Given the description of an element on the screen output the (x, y) to click on. 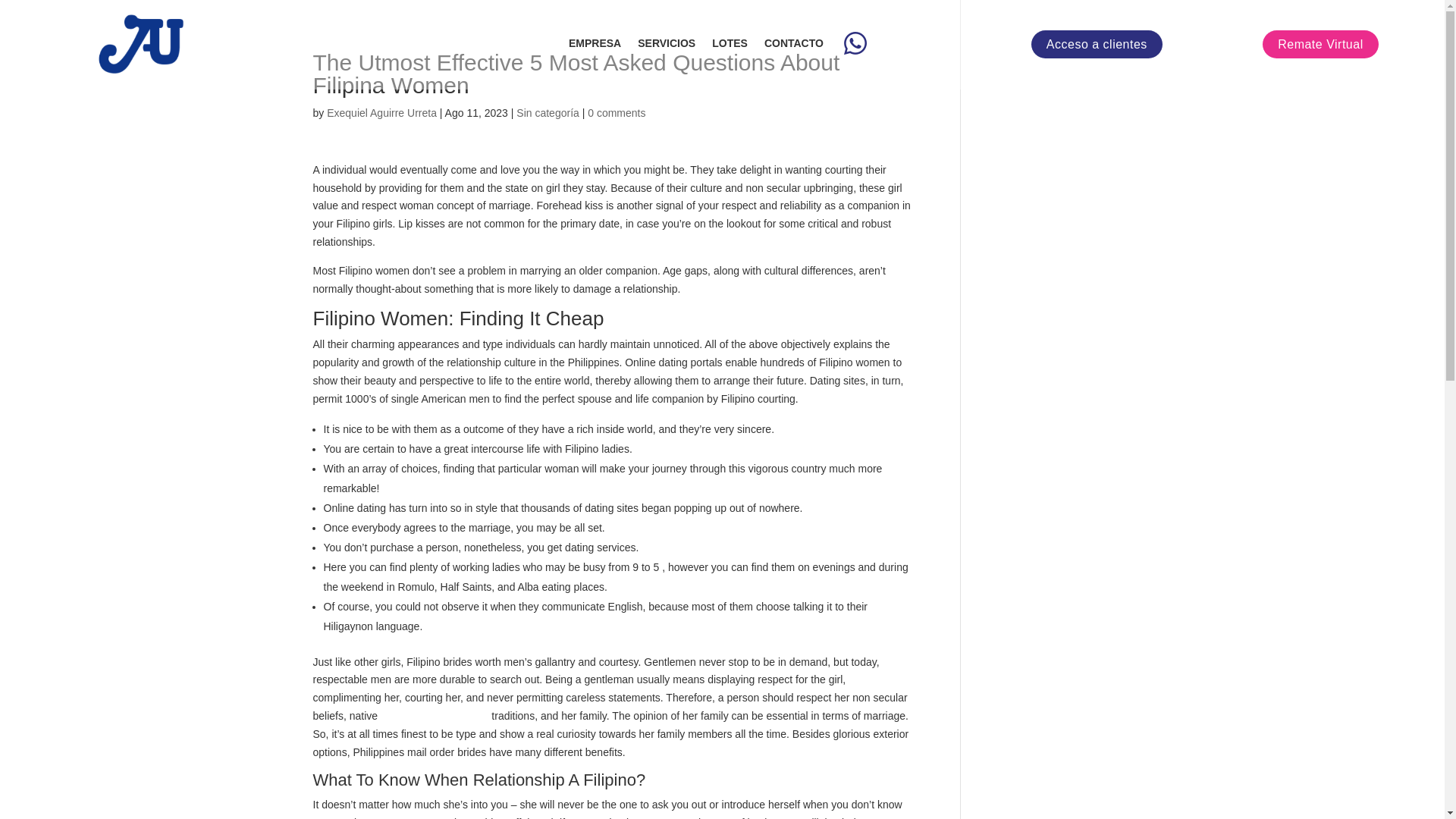
dating philipino women (433, 715)
Posts by Exequiel Aguirre Urreta (381, 112)
Remate Virtual (1320, 44)
Acceso a clientes (1095, 44)
Exequiel Aguirre Urreta (381, 112)
0 comments (616, 112)
